Given the description of an element on the screen output the (x, y) to click on. 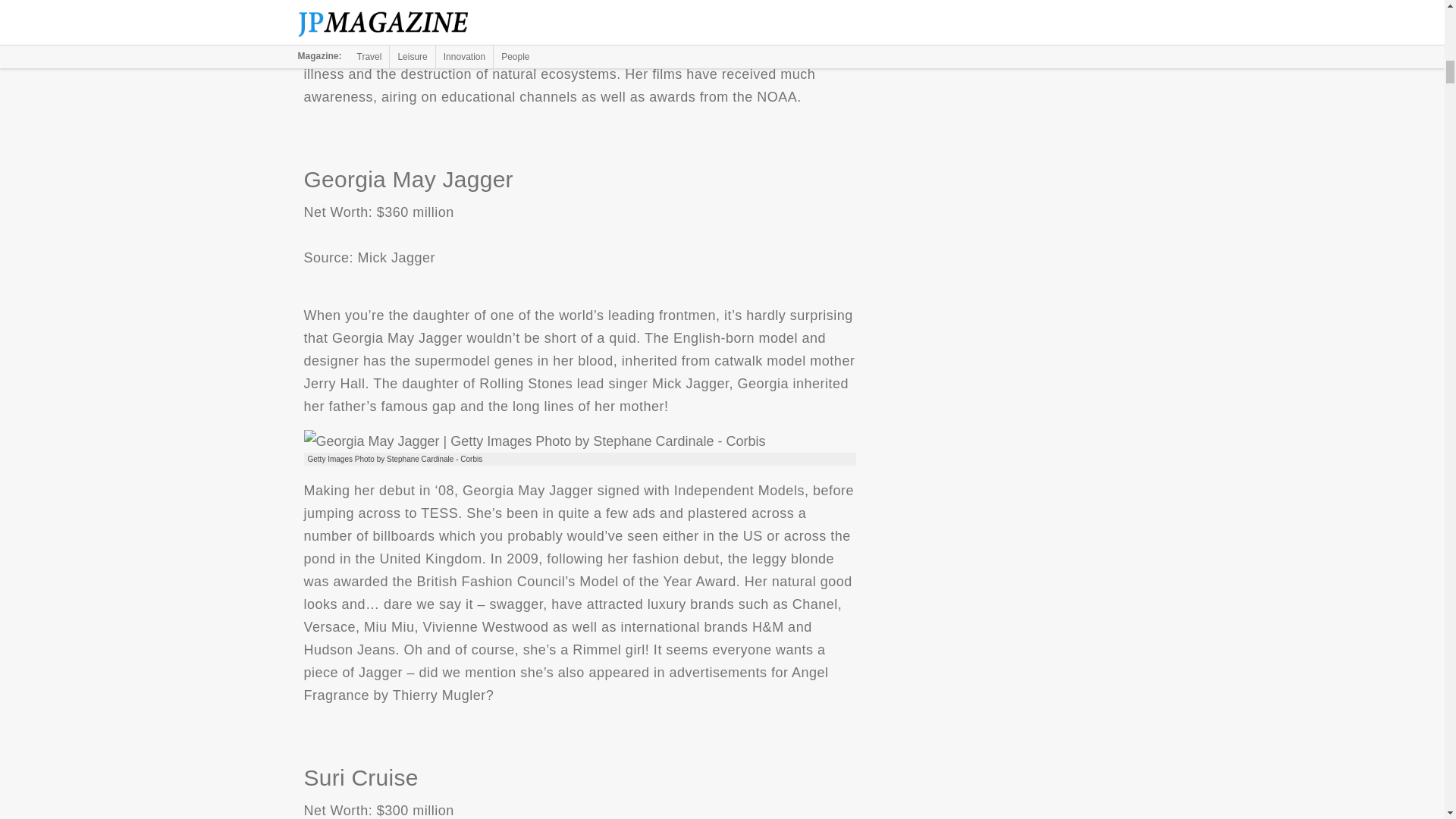
Georgia May Jagger (533, 440)
